Given the description of an element on the screen output the (x, y) to click on. 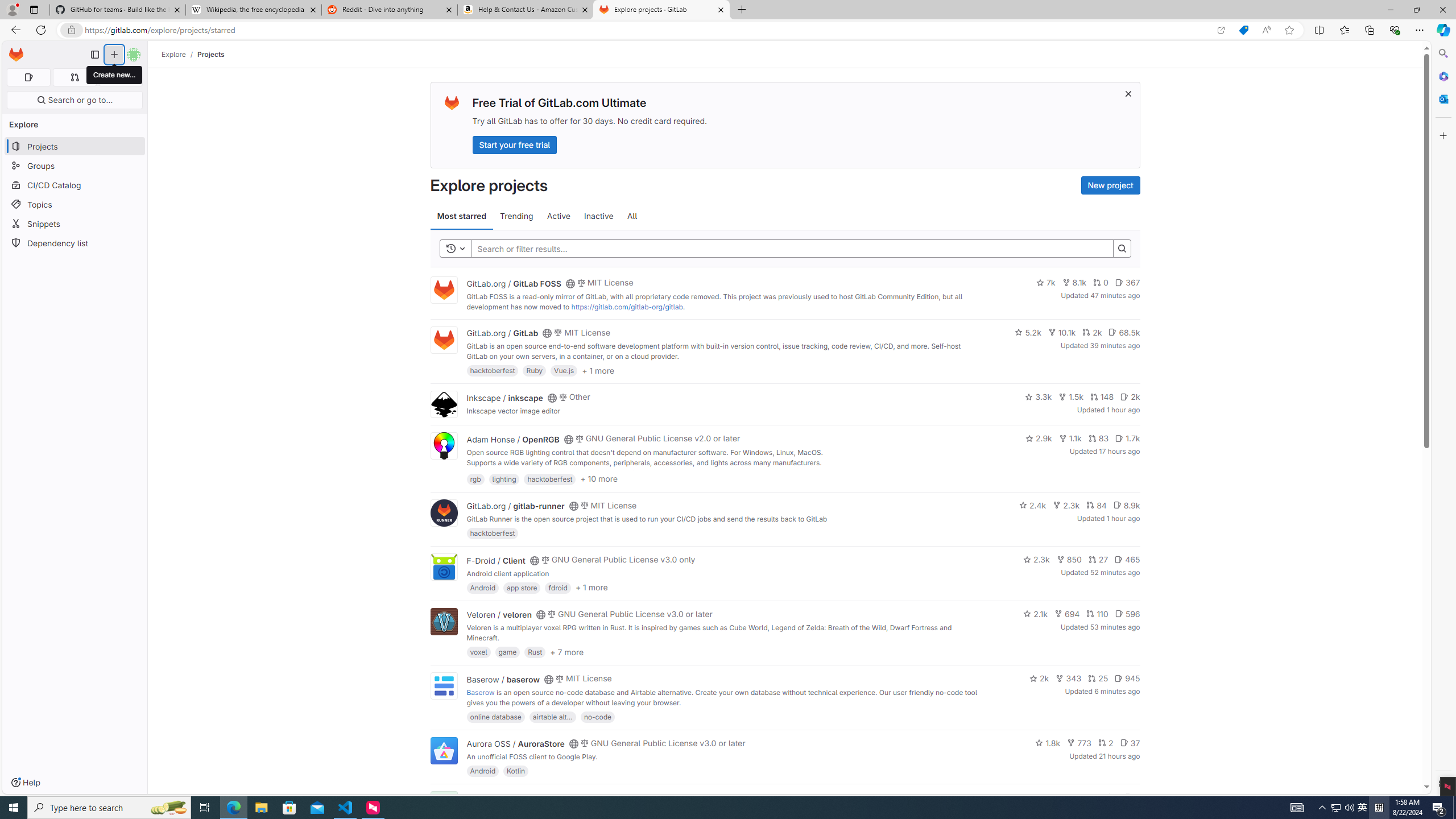
no-code (597, 715)
Groups (74, 165)
Open in app (1220, 29)
Adam Honse / OpenRGB (512, 438)
Create new... (114, 74)
Explore/ (179, 53)
Topics (74, 203)
850 (1068, 559)
1.8k (1048, 742)
GitLab.org / gitlab-runner (514, 506)
